Given the description of an element on the screen output the (x, y) to click on. 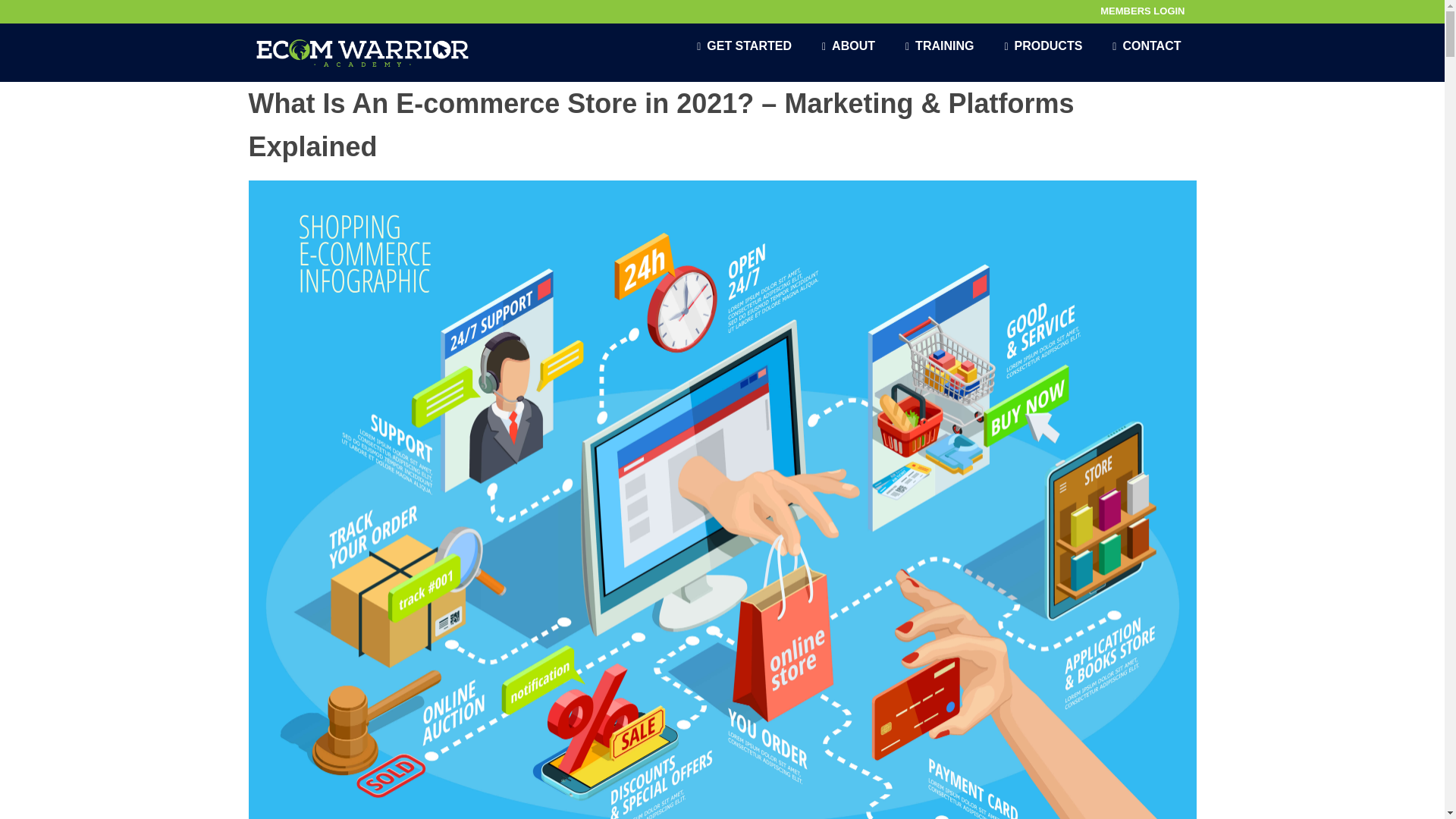
CONTACT (1146, 45)
MEMBERS LOGIN (1142, 11)
GET STARTED (743, 45)
PRODUCTS (1042, 45)
TRAINING (938, 45)
ABOUT (847, 45)
